Given the description of an element on the screen output the (x, y) to click on. 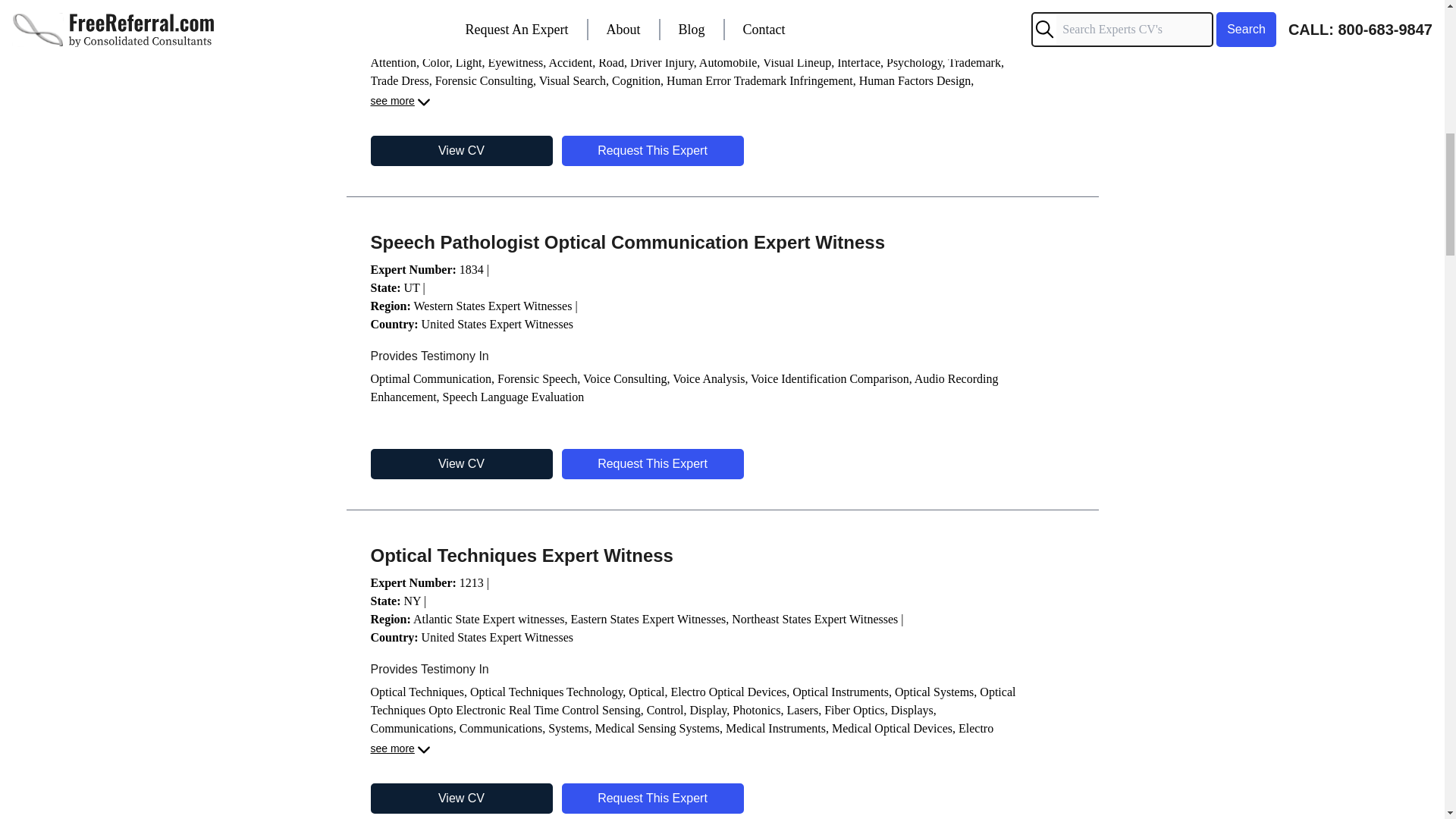
View CV (460, 150)
Request This Expert (651, 798)
Request This Expert (651, 150)
see more (400, 750)
View CV (460, 463)
Request This Expert (651, 463)
see more (400, 102)
View CV (460, 798)
